Given the description of an element on the screen output the (x, y) to click on. 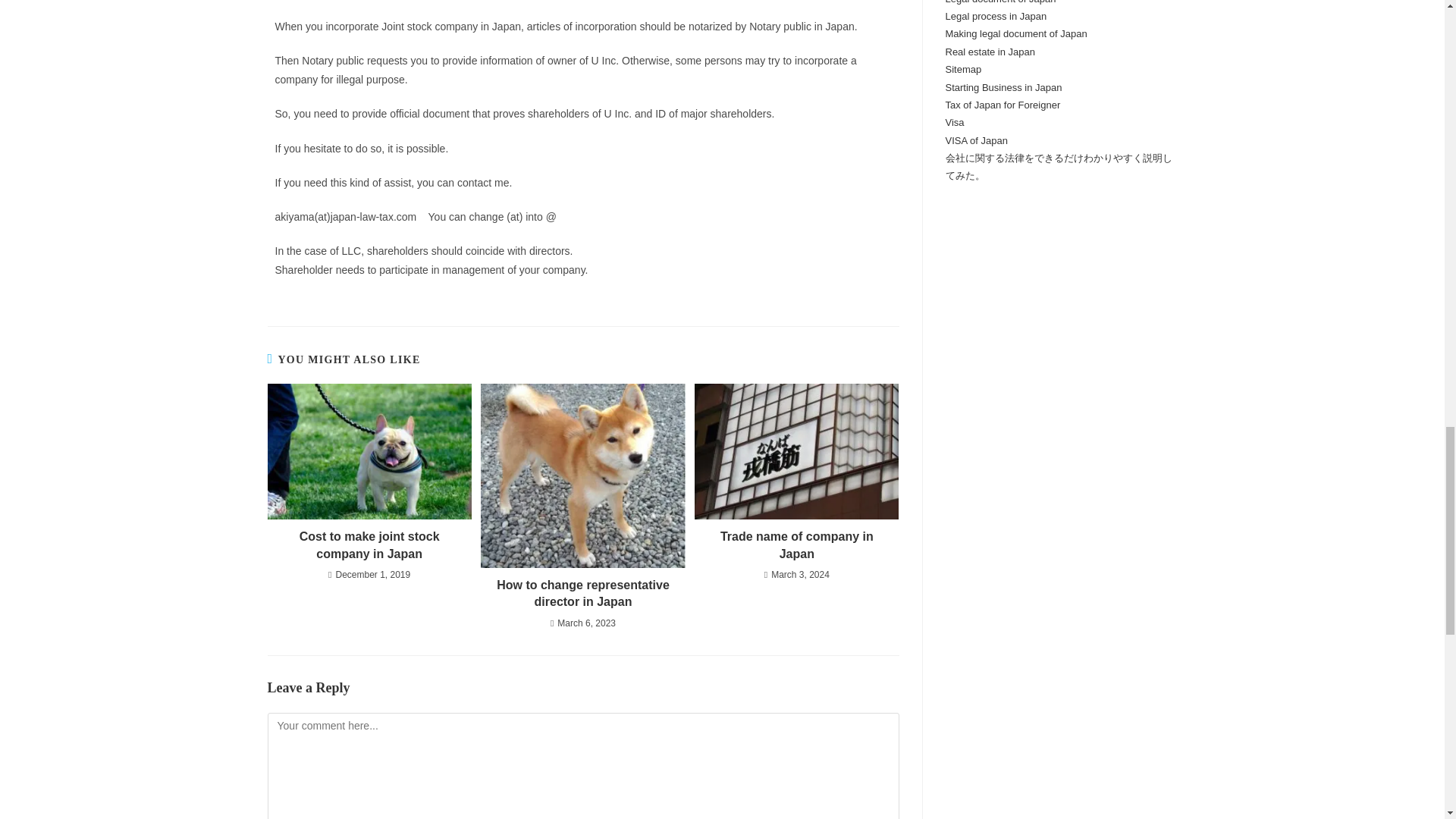
Cost to make joint stock company in Japan 2 (368, 452)
Trade name of company in Japan 4 (796, 452)
How to change representative director in Japan 3 (582, 476)
